Given the description of an element on the screen output the (x, y) to click on. 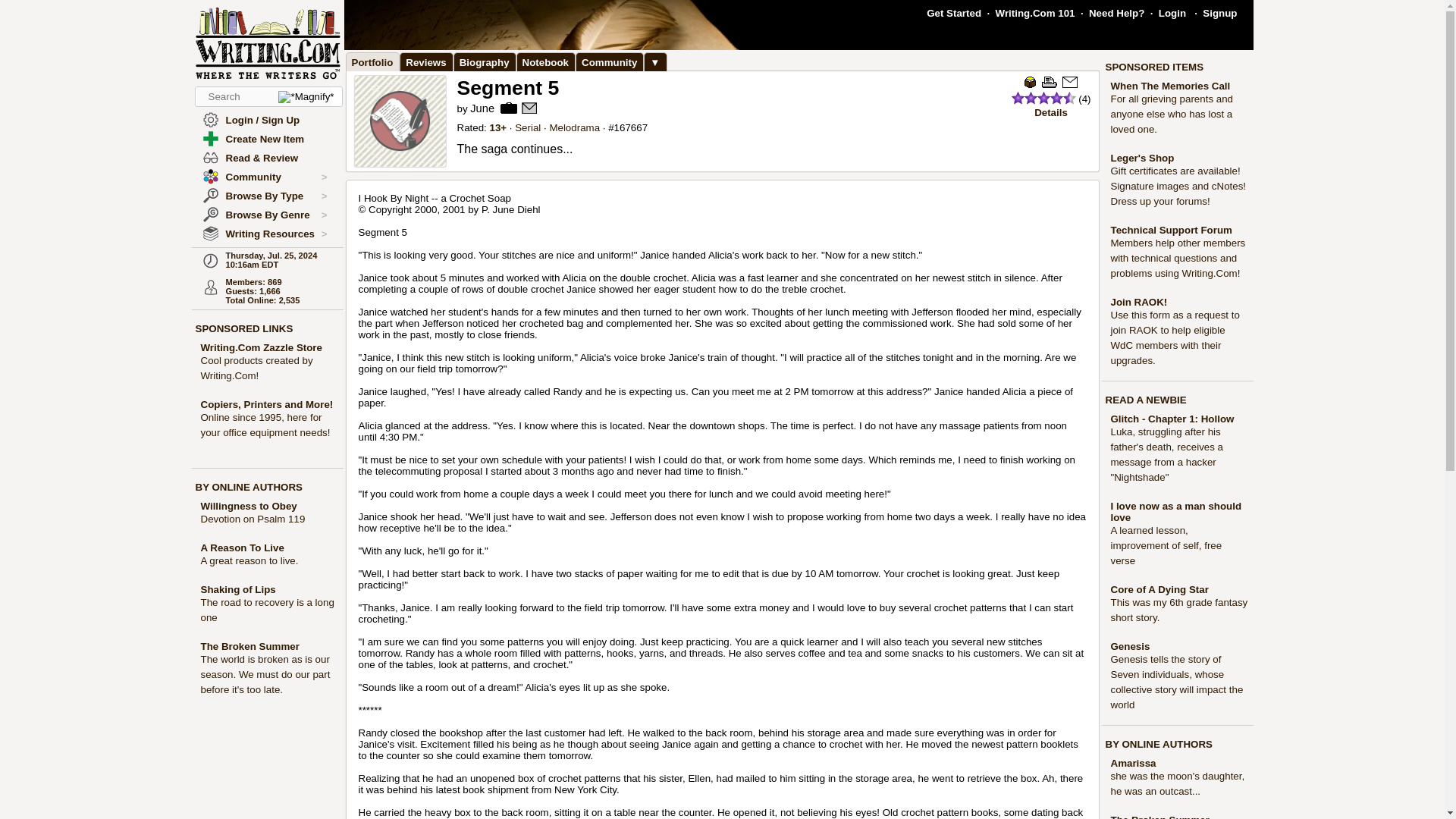
Create New Item (264, 138)
Need Help? (1116, 12)
Get Started (953, 12)
Login (1172, 12)
Writing.Com 101 (1035, 12)
Signup (1219, 12)
Magnify (305, 96)
